Given the description of an element on the screen output the (x, y) to click on. 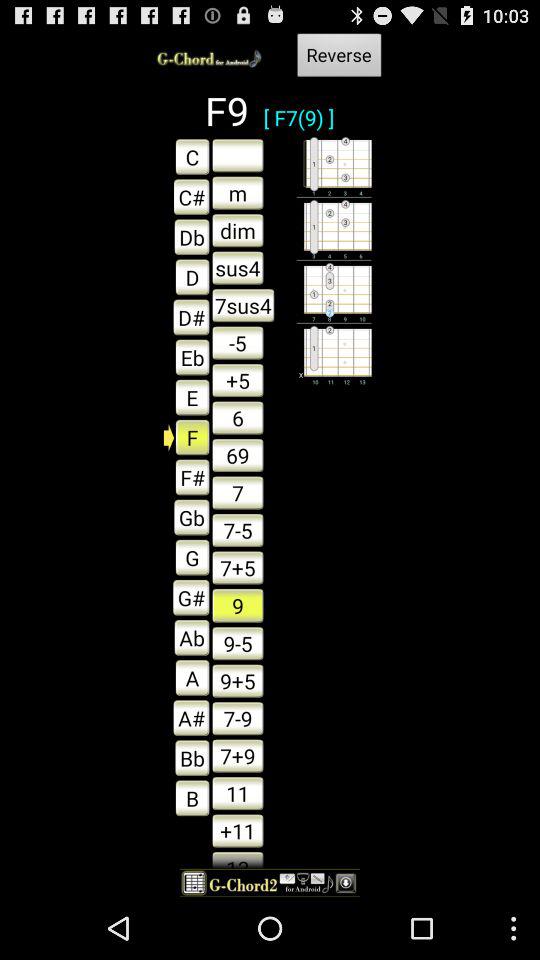
turn off the icon to the right of db icon (237, 267)
